Given the description of an element on the screen output the (x, y) to click on. 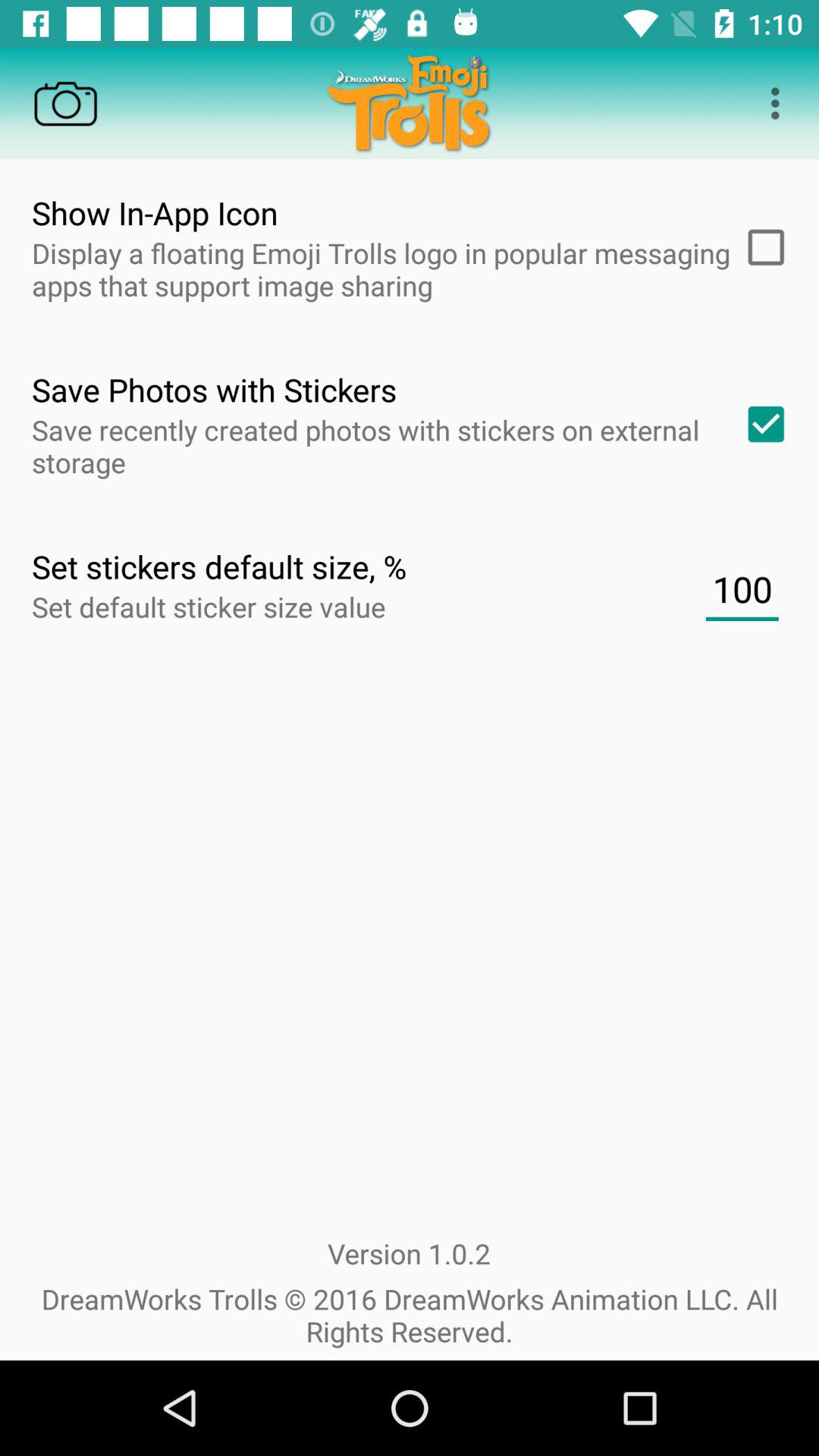
launch the 100 item (741, 589)
